Given the description of an element on the screen output the (x, y) to click on. 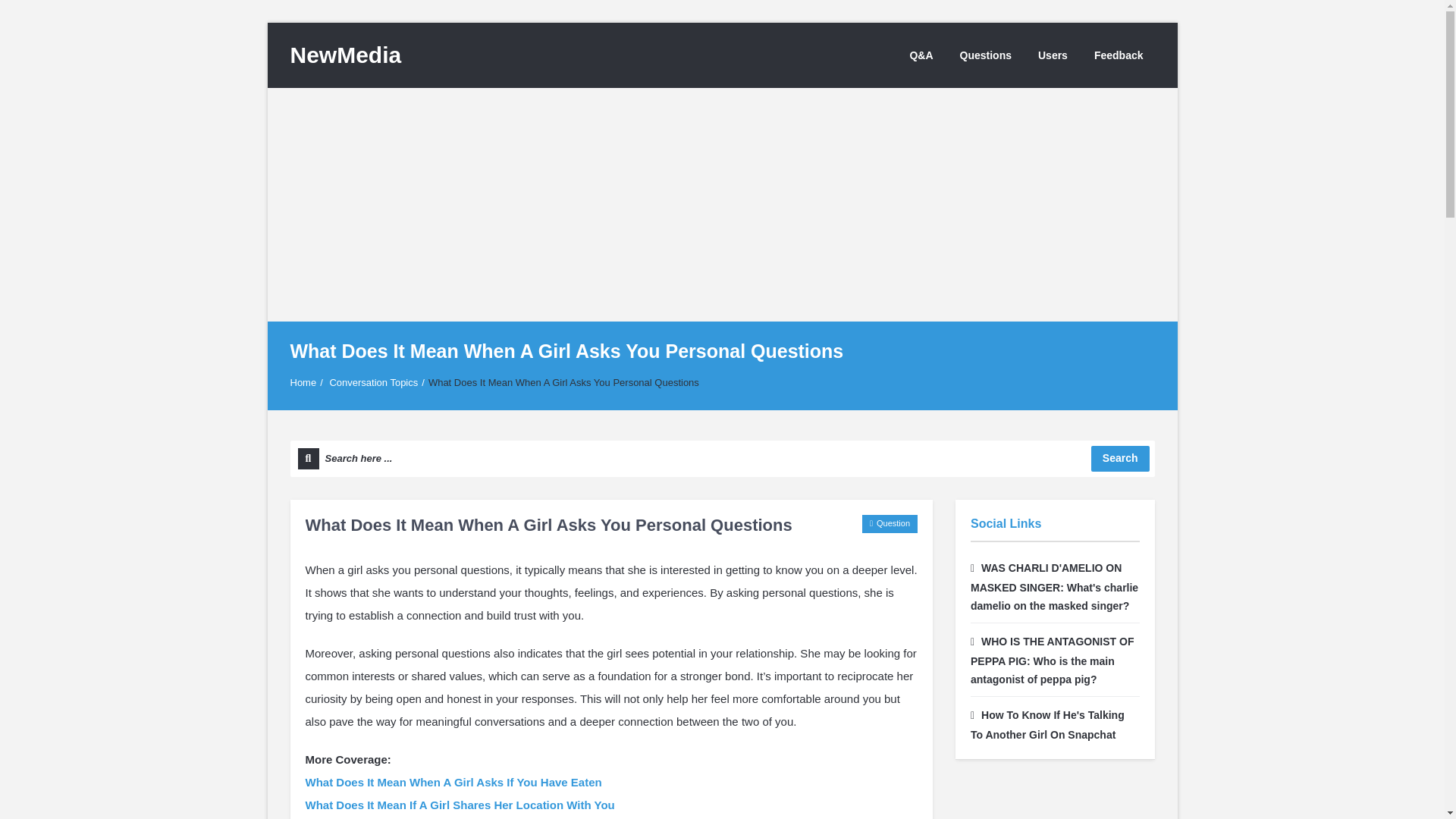
Feedback (1118, 54)
Search here ... (721, 458)
Questions (986, 54)
NewMedia (345, 54)
What Does It Mean When A Girl Asks If You Have Eaten (452, 781)
What Does It Mean When A Girl Asks If You Have Eaten (452, 781)
Conversation Topics (373, 382)
Search here ... (721, 458)
Home (302, 382)
